Given the description of an element on the screen output the (x, y) to click on. 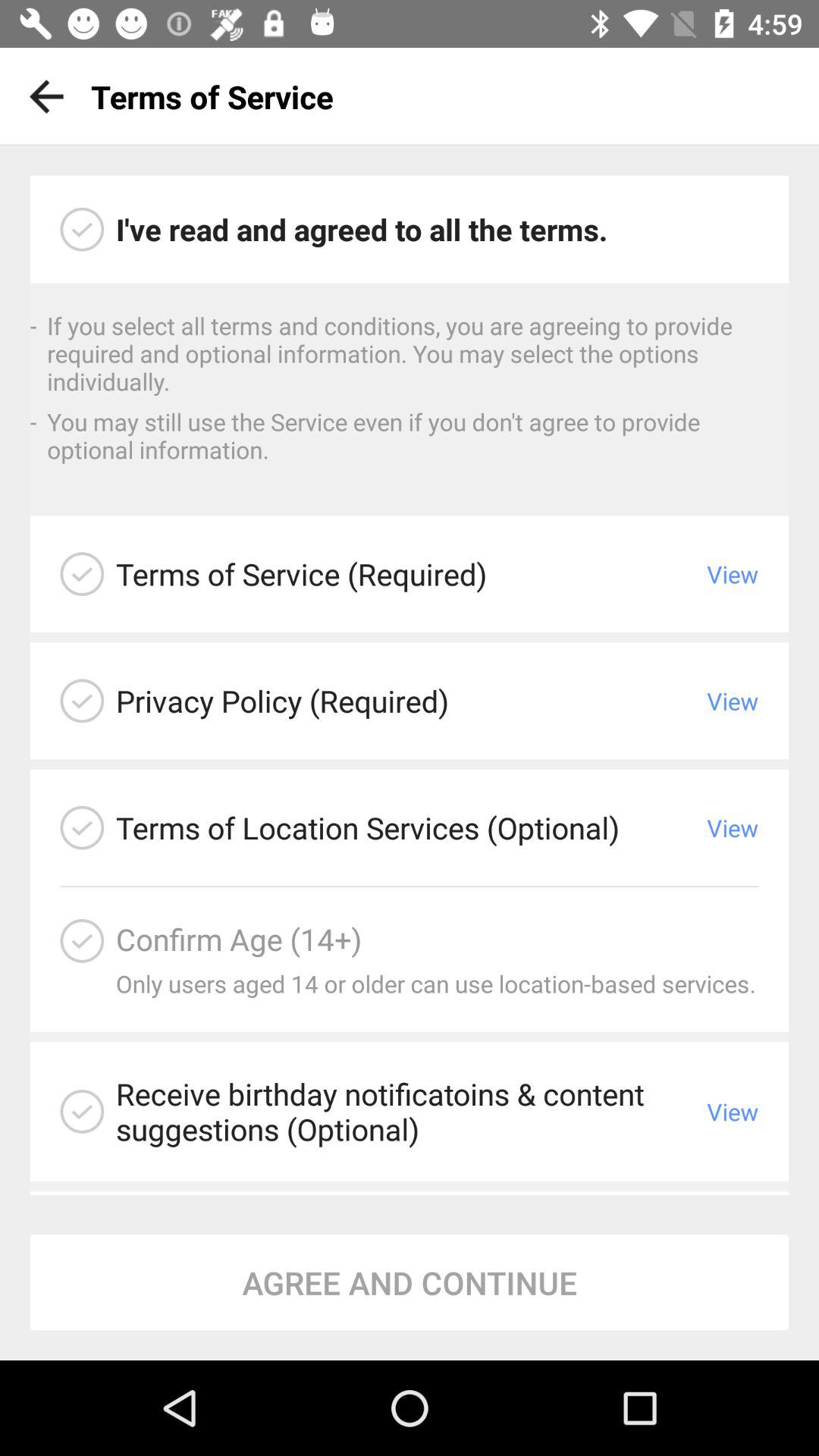
click icon to the left of the terms of service app (41, 96)
